Given the description of an element on the screen output the (x, y) to click on. 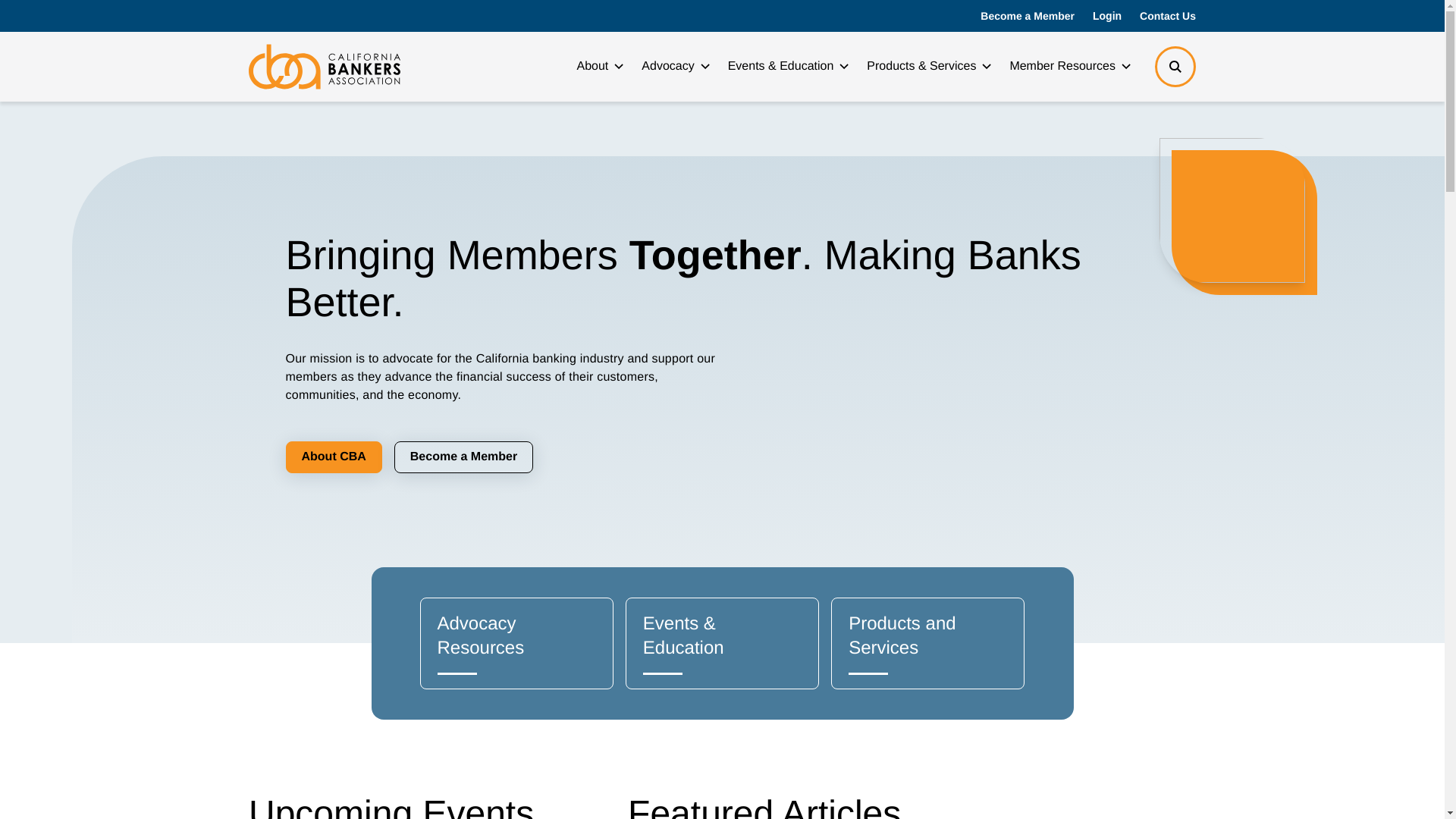
Become a Member (1026, 15)
About (599, 66)
Advocacy (675, 66)
Member Resources (1070, 66)
Contact Us (1167, 15)
Home page (324, 66)
Login (1107, 15)
